Given the description of an element on the screen output the (x, y) to click on. 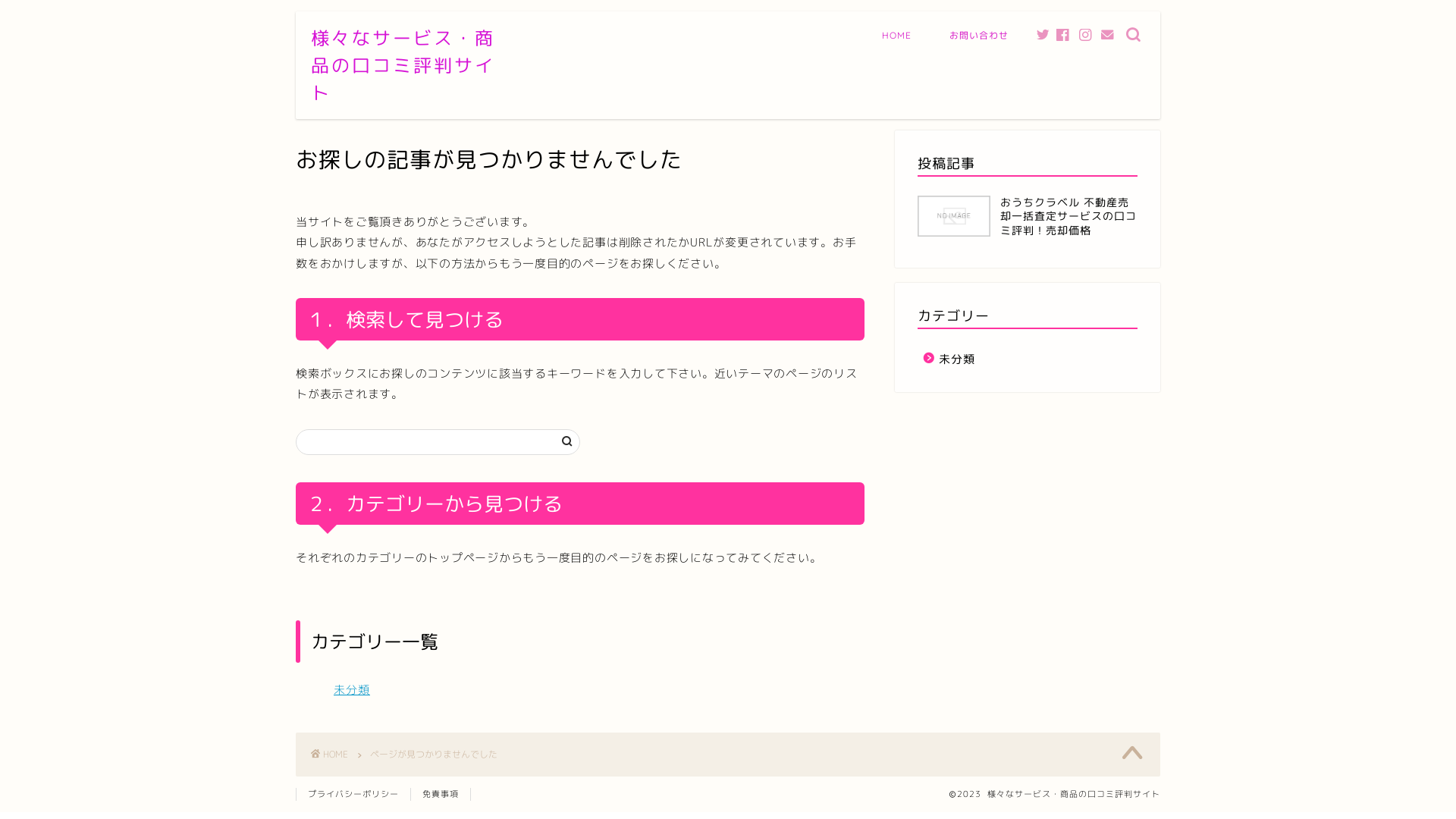
HOME Element type: text (896, 38)
HOME Element type: text (329, 753)
